Given the description of an element on the screen output the (x, y) to click on. 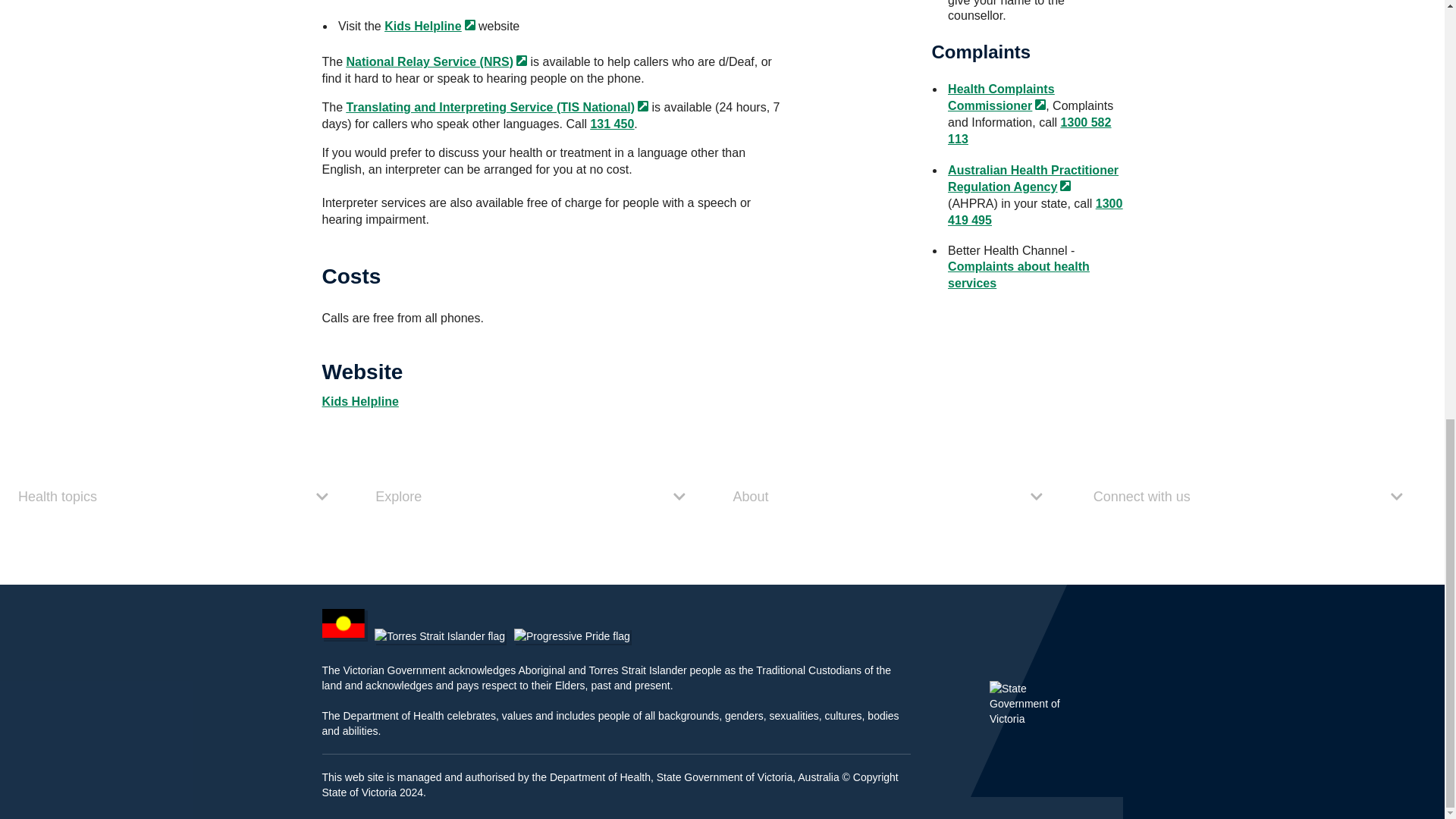
External Link (470, 24)
External Link (1064, 185)
External Link (1040, 104)
External Link (642, 105)
External Link (521, 60)
